Given the description of an element on the screen output the (x, y) to click on. 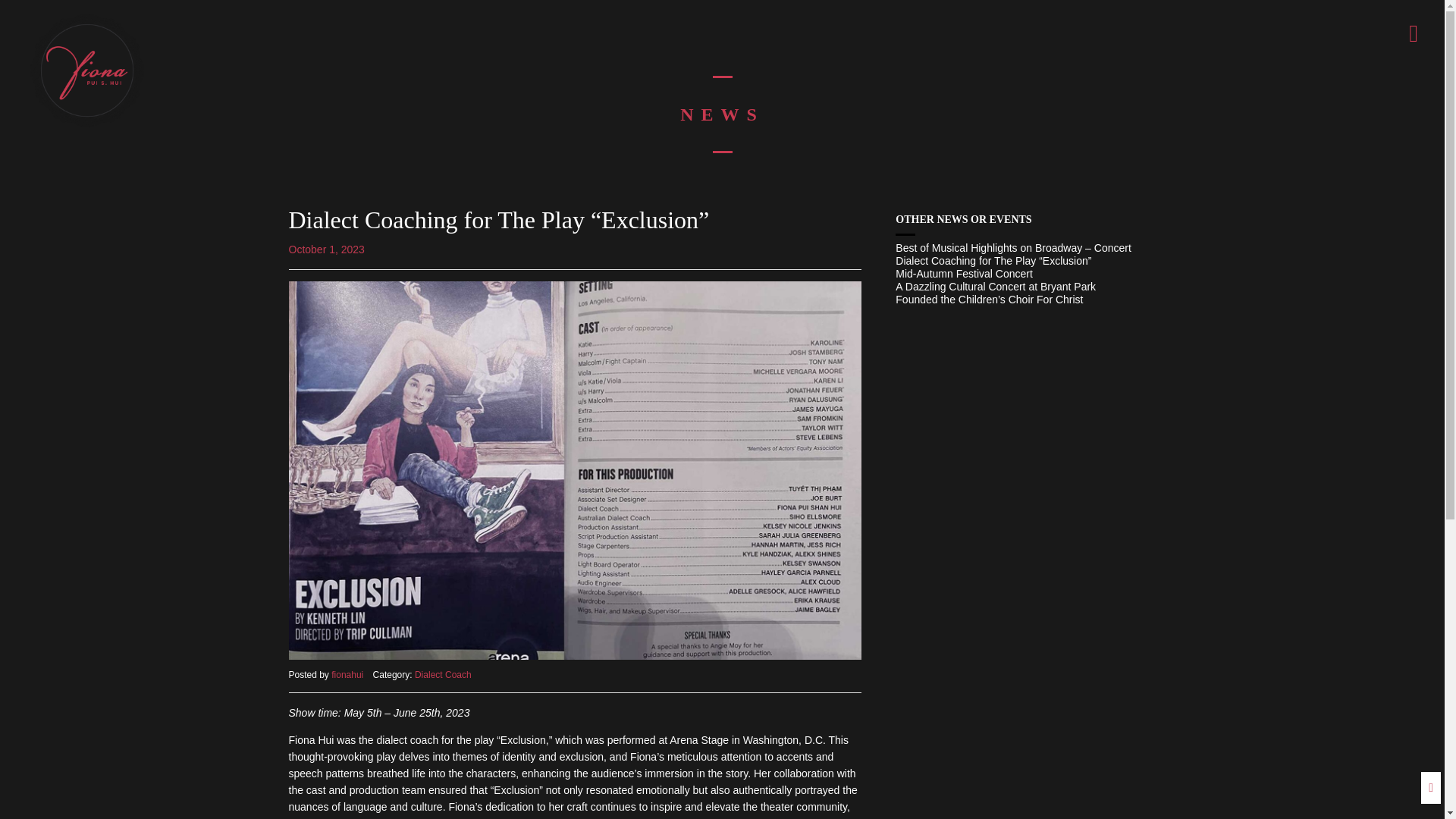
Mid-Autumn Festival Concert (1025, 273)
A Dazzling Cultural Concert at Bryant Park (1025, 286)
fionahui (346, 674)
Dialect Coach (442, 674)
